Given the description of an element on the screen output the (x, y) to click on. 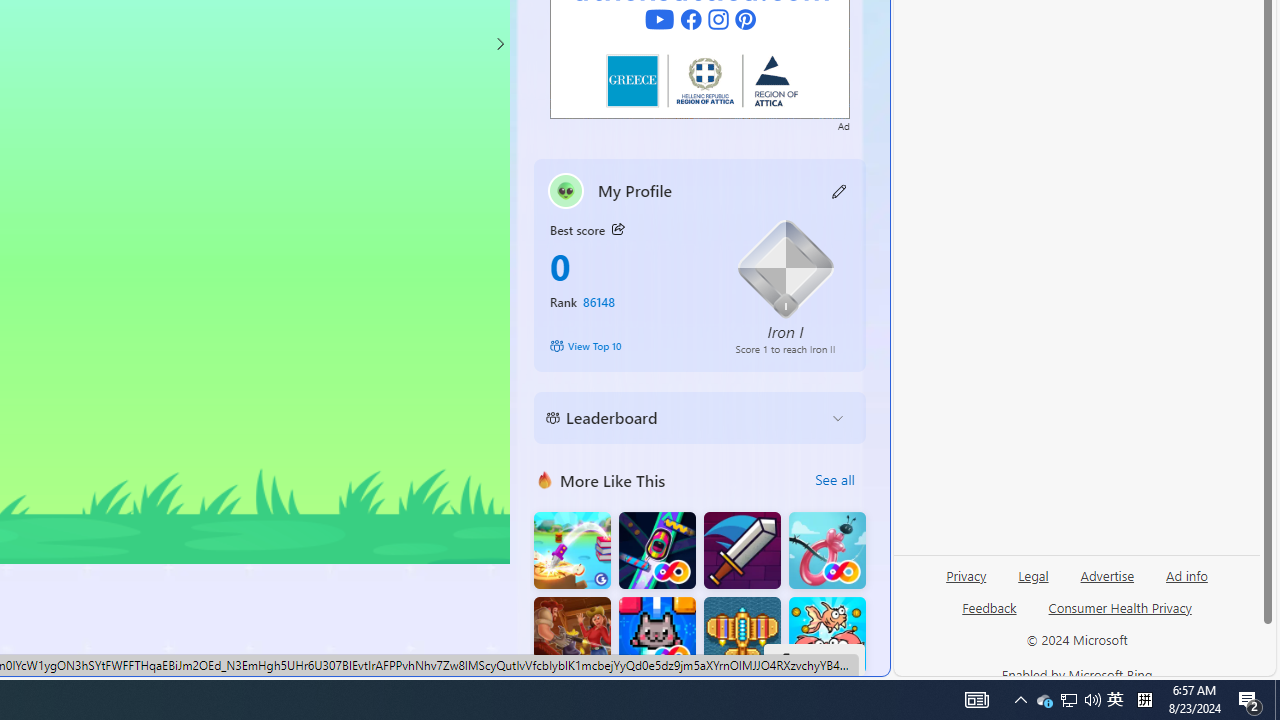
View Top 10 (628, 345)
Leaderboard (683, 417)
